Given the description of an element on the screen output the (x, y) to click on. 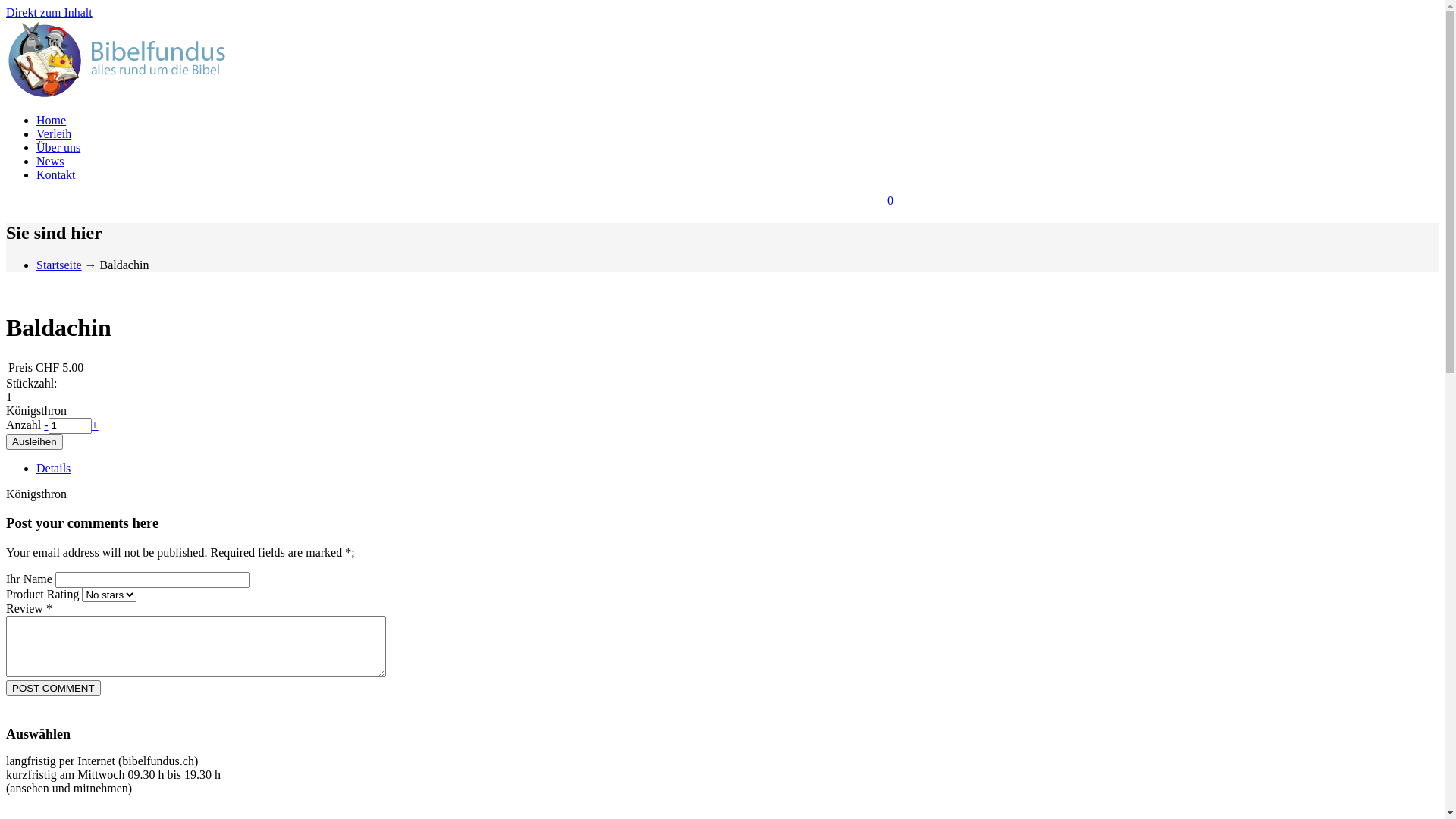
Details Element type: text (53, 467)
0 Element type: text (890, 200)
+ Element type: text (94, 424)
News Element type: text (49, 160)
POST COMMENT Element type: text (53, 688)
Direkt zum Inhalt Element type: text (49, 12)
Home Element type: text (50, 119)
Kontakt Element type: text (55, 174)
Verleih Element type: text (53, 133)
Ausleihen Element type: text (34, 441)
- Element type: text (45, 424)
Startseite Element type: text (58, 264)
